Given the description of an element on the screen output the (x, y) to click on. 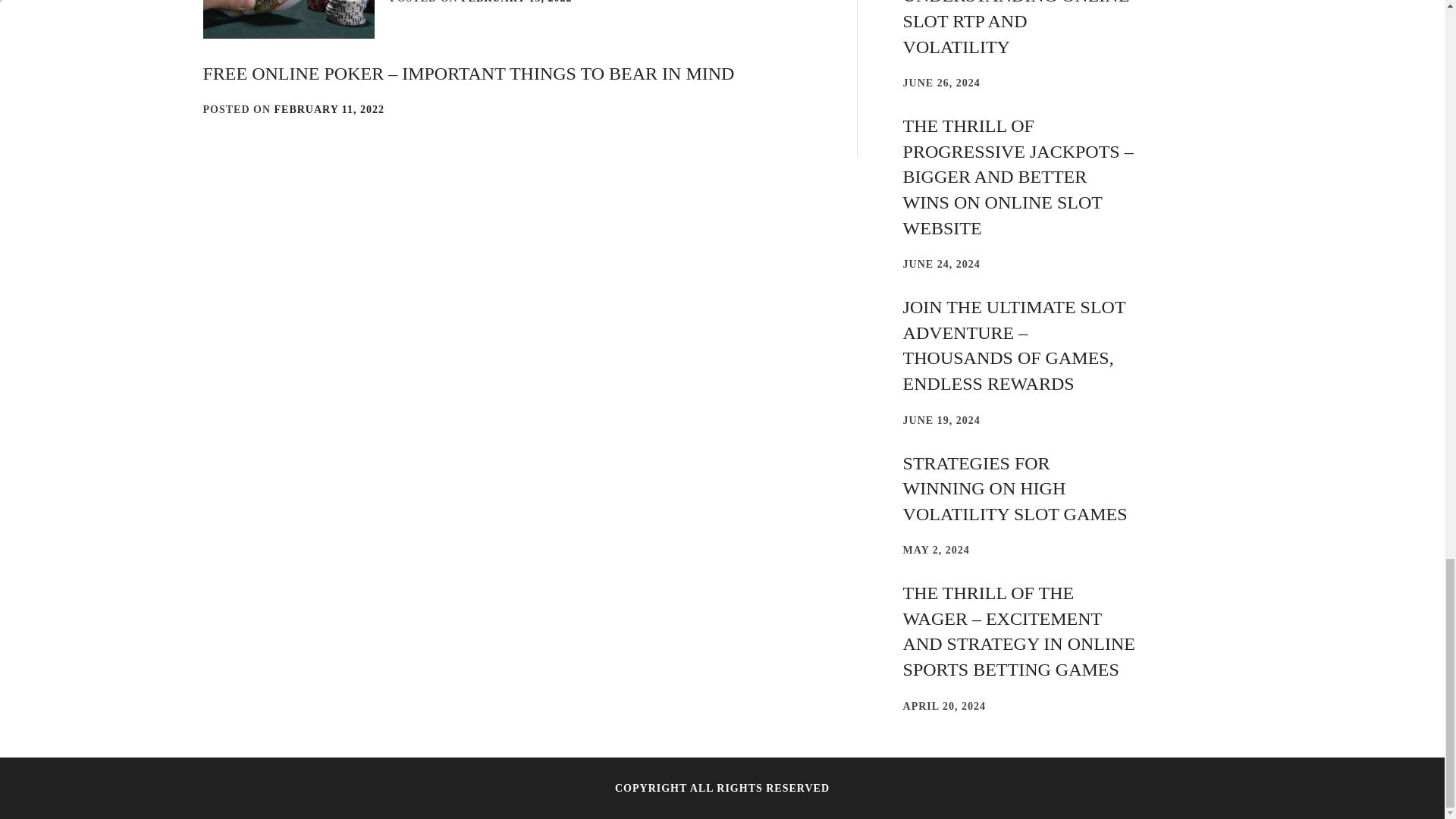
FEBRUARY 13, 2022 (516, 2)
FEBRUARY 11, 2022 (330, 109)
